Given the description of an element on the screen output the (x, y) to click on. 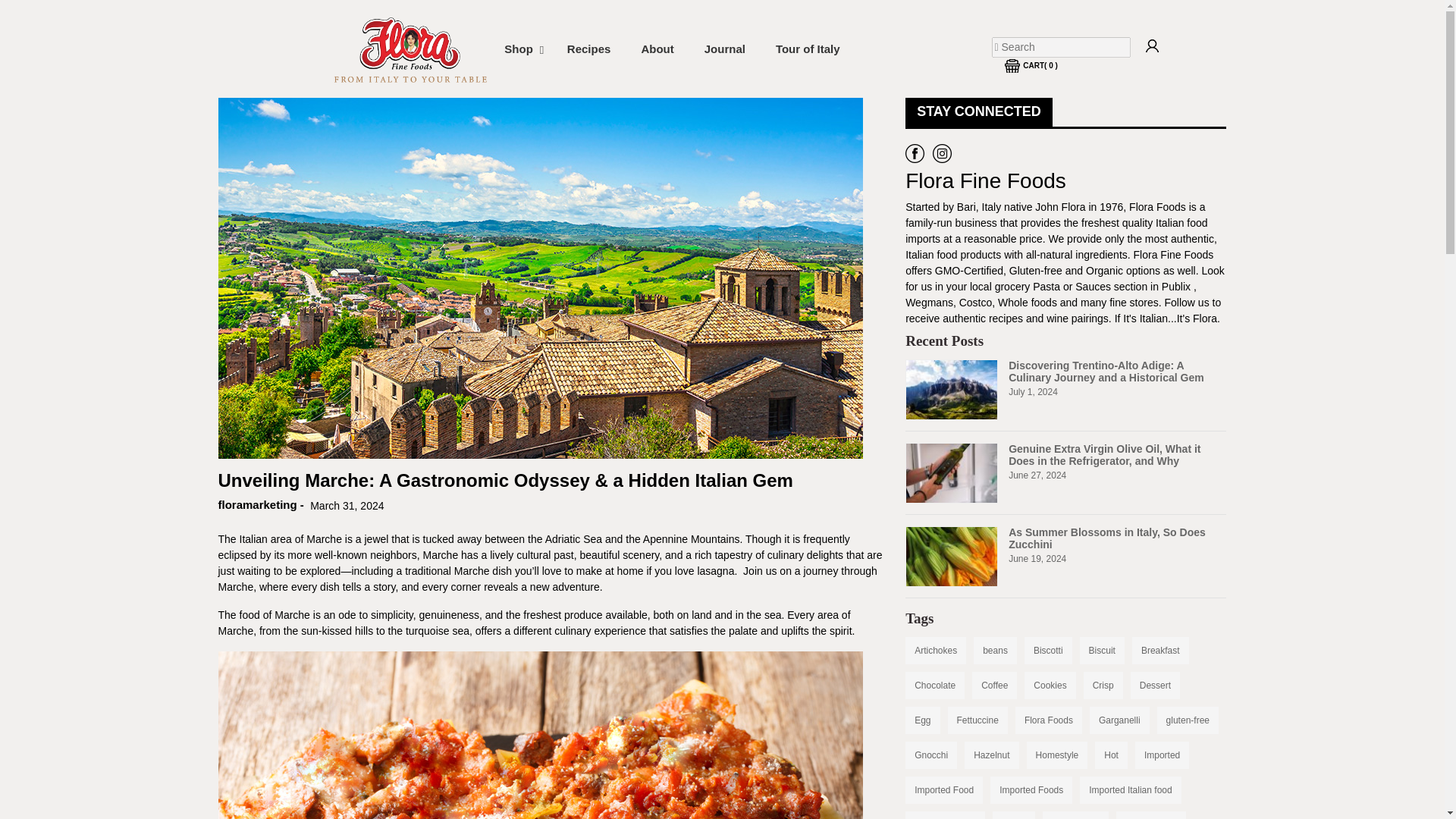
Shop (671, 48)
Flora Fine Foods (520, 48)
Permalink to As Summer Blossoms in Italy, So Does Zucchini (410, 48)
